Given the description of an element on the screen output the (x, y) to click on. 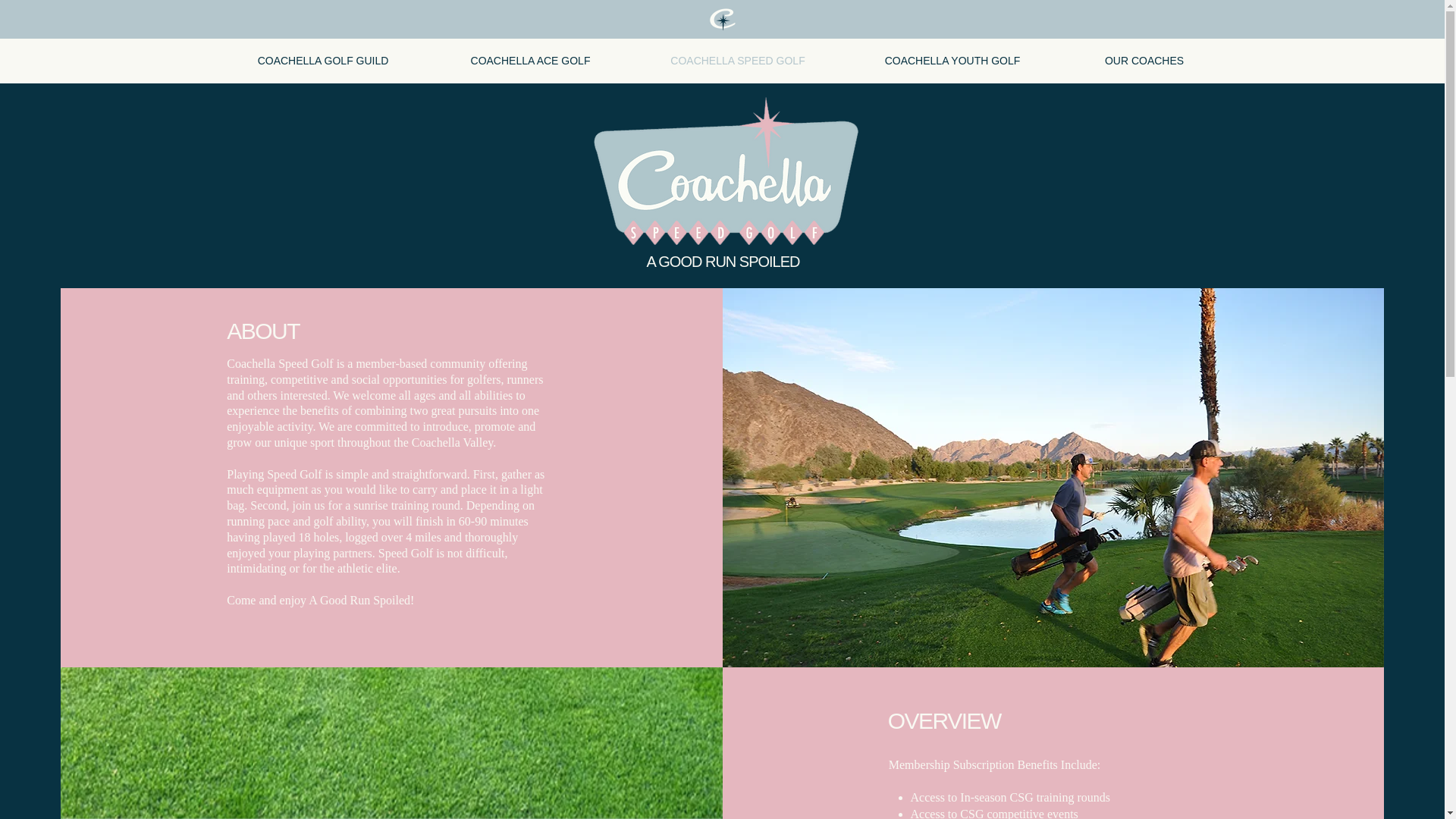
OUR COACHES (1144, 60)
COACHELLA YOUTH GOLF (952, 60)
COACHELLA GOLF GUILD (322, 60)
COACHELLA SPEED GOLF (737, 60)
COACHELLA ACE GOLF (530, 60)
